Given the description of an element on the screen output the (x, y) to click on. 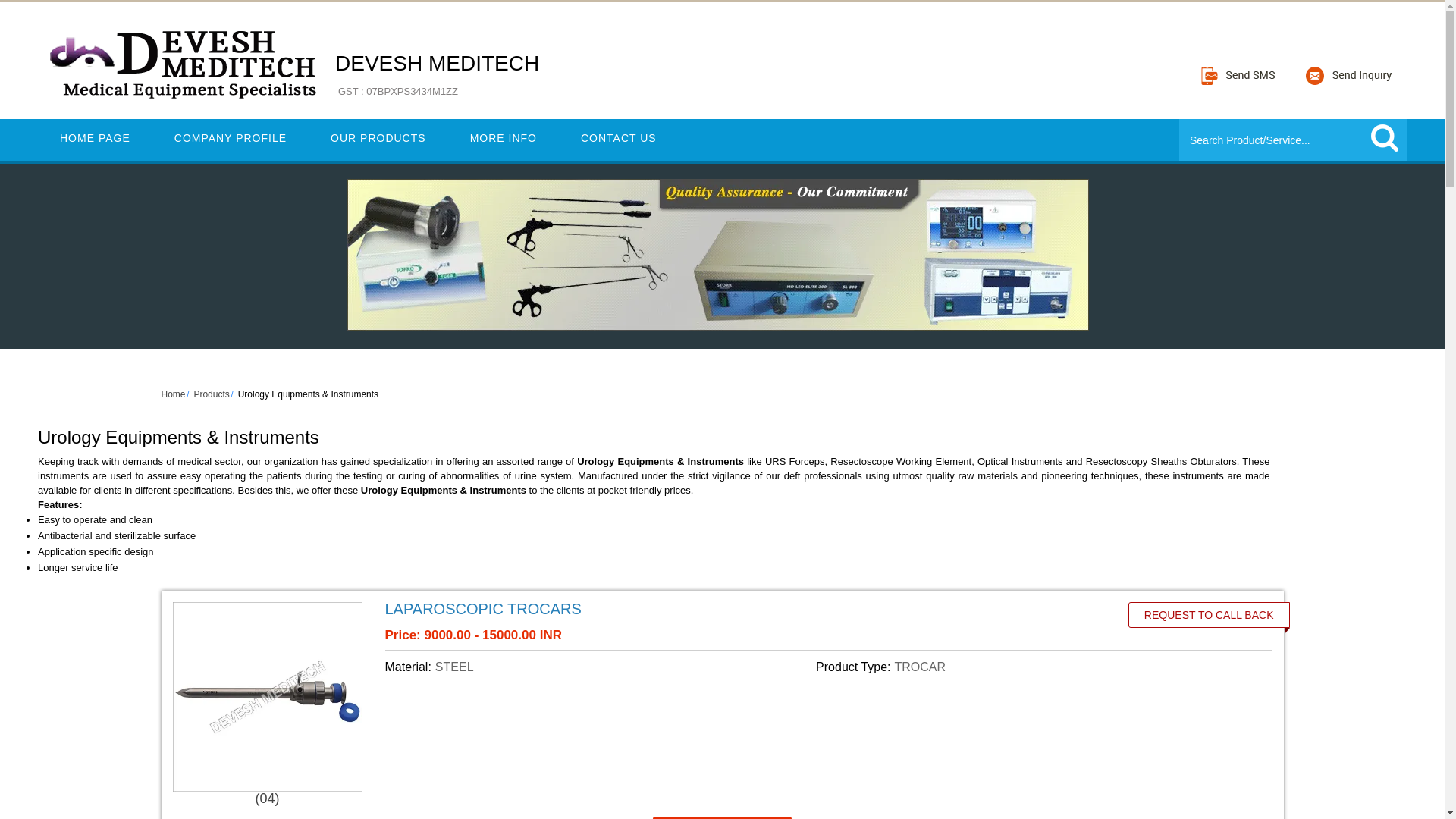
REQUEST TO CALL BACK (1208, 614)
Product Type: TROCAR (1028, 667)
HOME PAGE (436, 75)
submit (94, 137)
MORE INFO (1384, 138)
OUR PRODUCTS (503, 137)
Products (378, 137)
COMPANY PROFILE (210, 394)
Laparoscopic Trocars (230, 137)
